Given the description of an element on the screen output the (x, y) to click on. 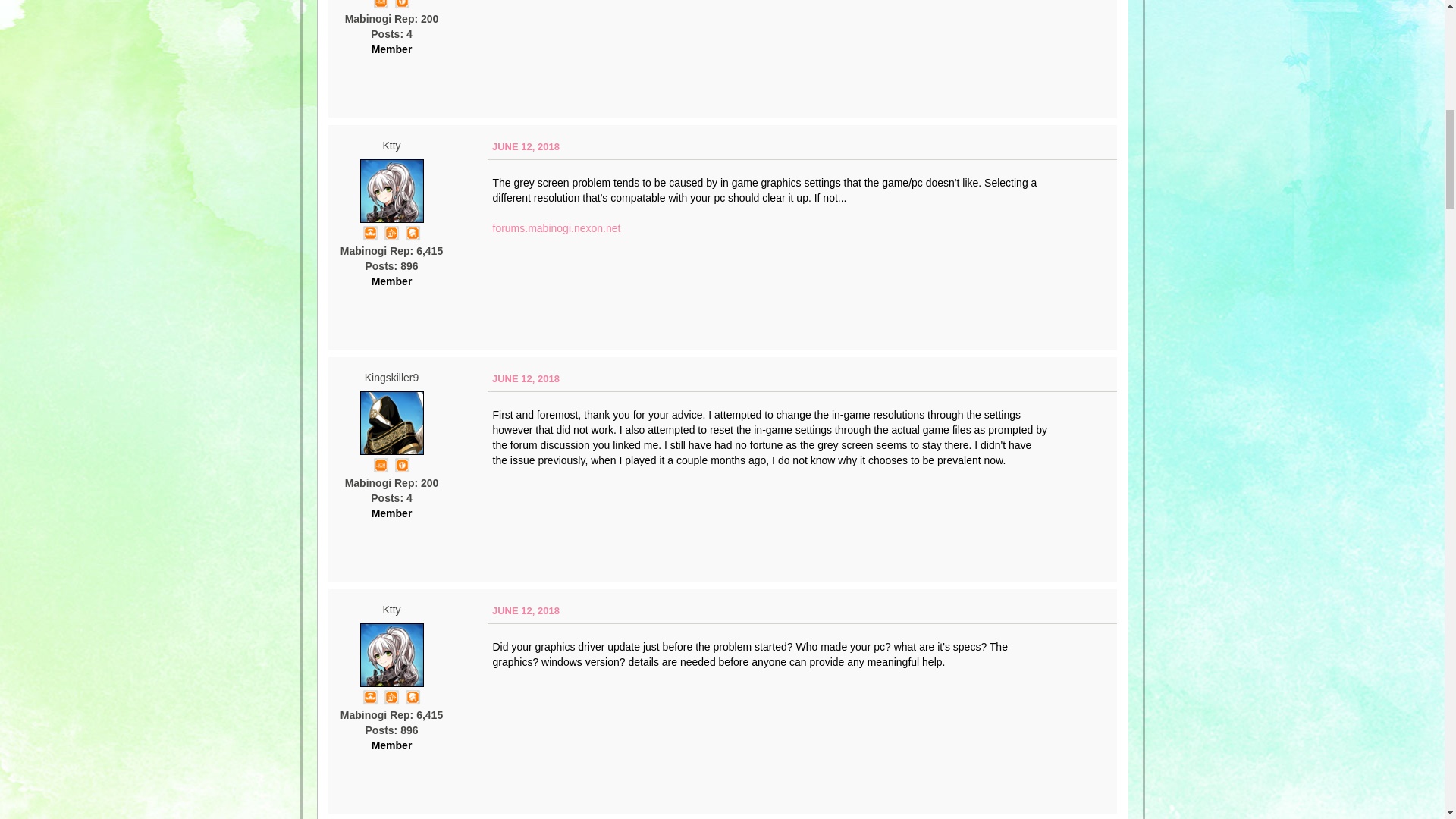
Shhhhh (412, 232)
June 12, 2018  3:37PM (525, 378)
Personality (380, 3)
Ktty (391, 190)
Seal Breaker (401, 464)
June 12, 2018 11:01AM (525, 146)
Ktty (391, 655)
Seal Breaker (401, 3)
Personality (380, 464)
Something to Show (390, 232)
Kingskiller9 (391, 423)
The Milletian Helper (369, 232)
The Milletian Helper (369, 695)
